Given the description of an element on the screen output the (x, y) to click on. 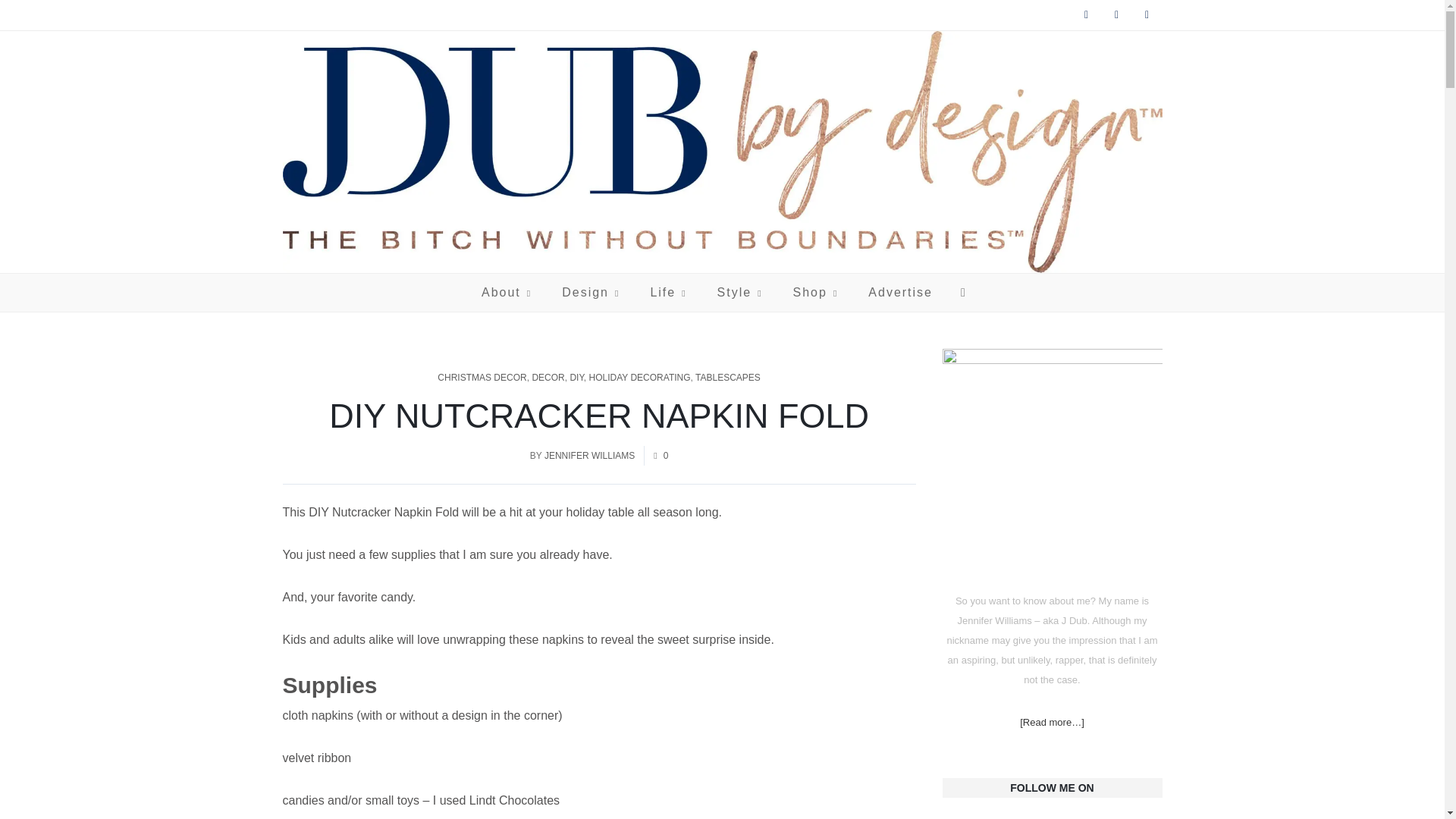
Shop (815, 292)
Style (739, 292)
View all posts in DIY (576, 377)
View all posts in Decor (547, 377)
Life (667, 292)
View all posts in Christmas Decor (481, 377)
 Follow on Instagram (1115, 15)
 Follow on Facebook (1085, 15)
Design (590, 292)
 Follow on Pinterest (1146, 15)
